Given the description of an element on the screen output the (x, y) to click on. 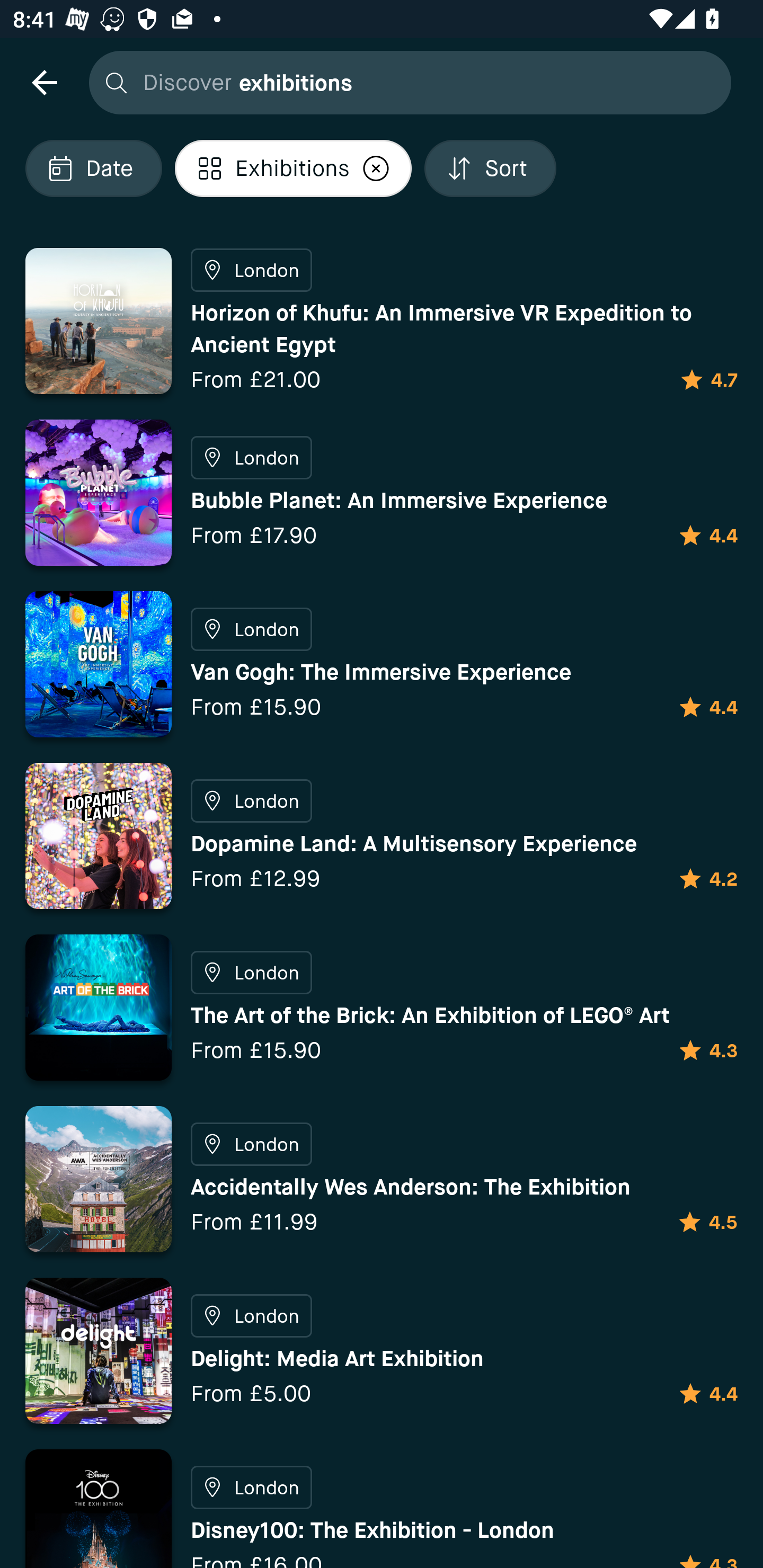
navigation icon (44, 81)
Discover exhibitions (405, 81)
Localized description Date (93, 168)
Localized description (376, 168)
Localized description Sort (490, 168)
